Given the description of an element on the screen output the (x, y) to click on. 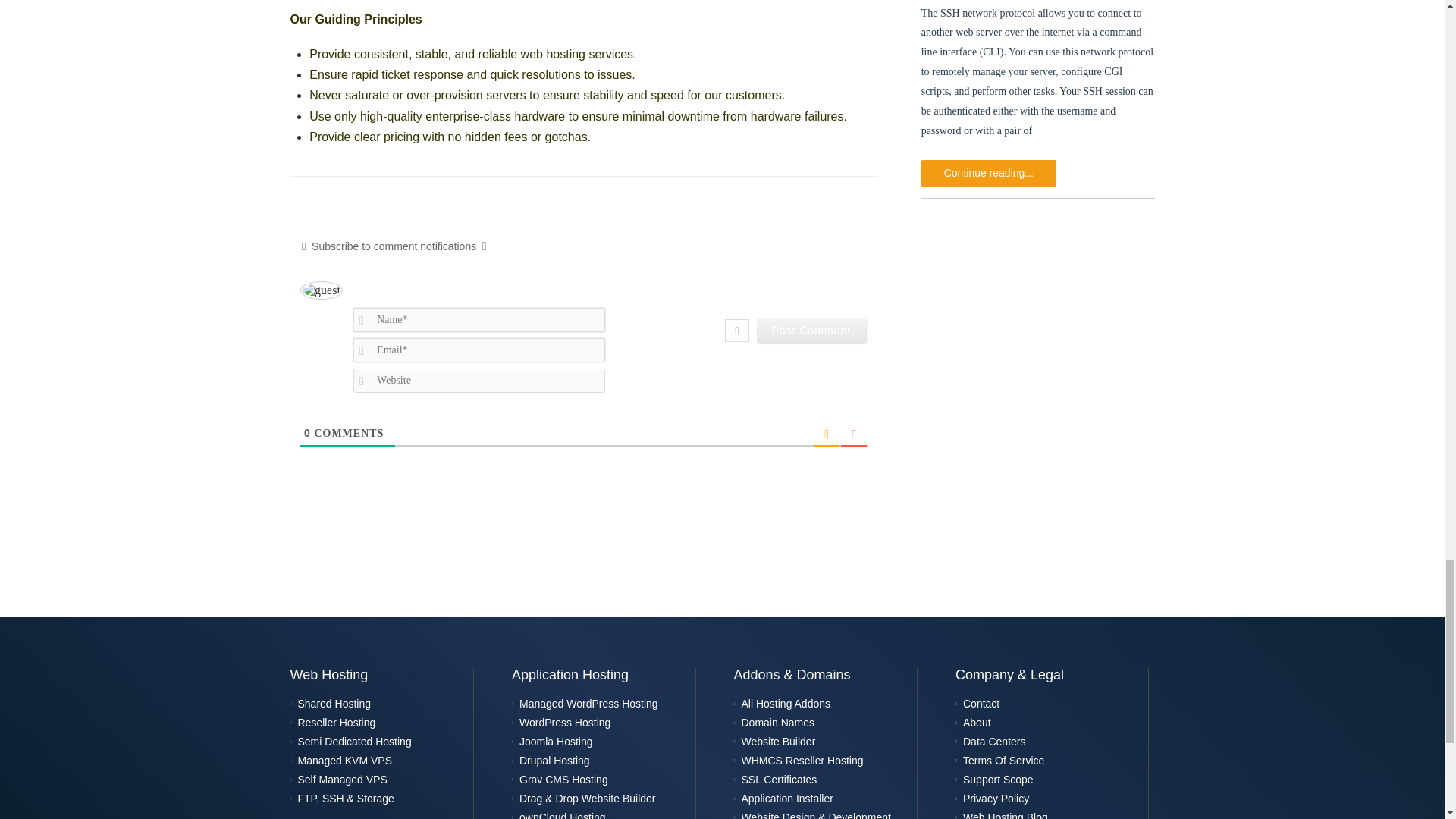
Post Comment (811, 330)
Post Comment (811, 330)
